Given the description of an element on the screen output the (x, y) to click on. 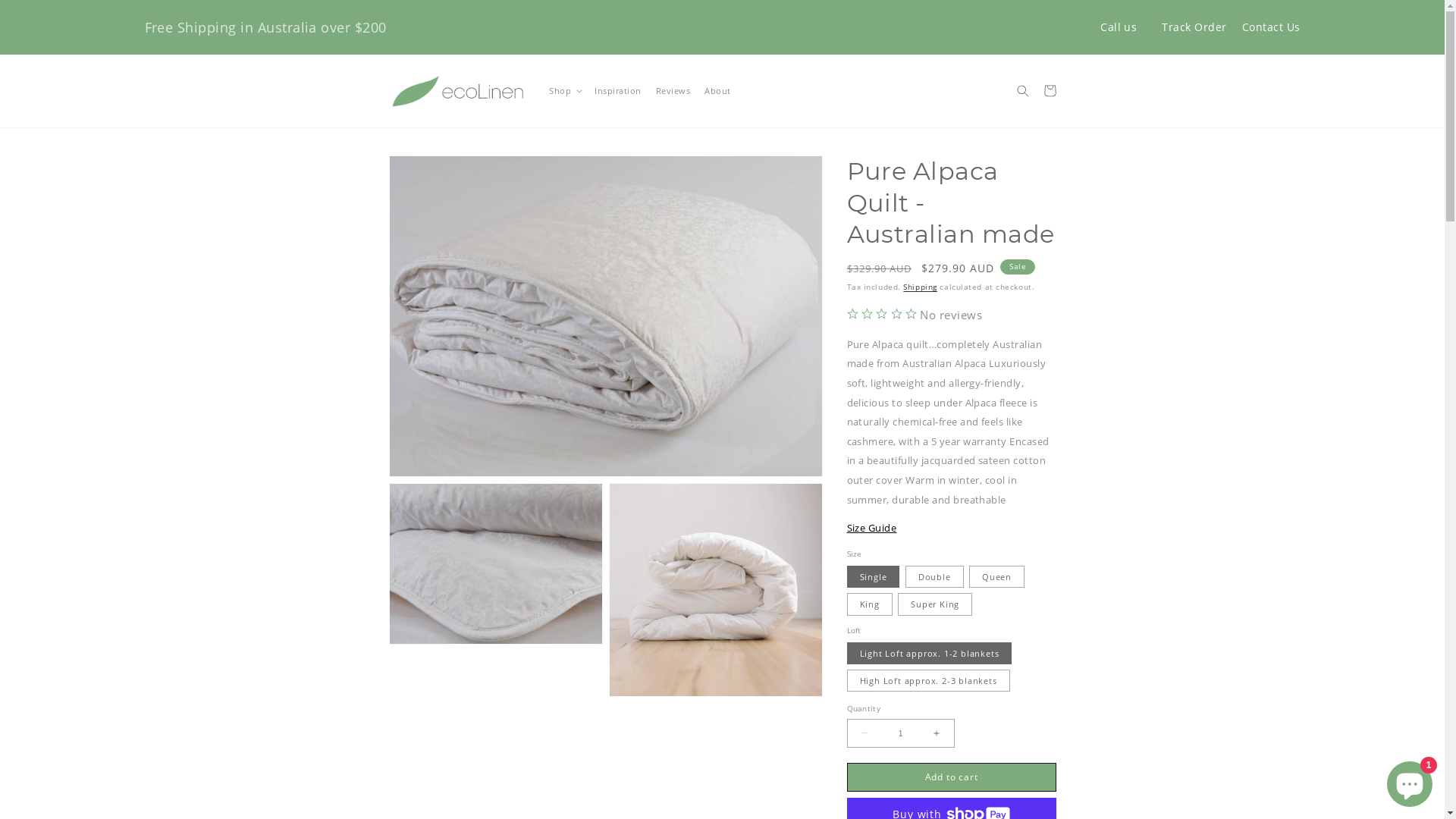
Shopify online store chat Element type: hover (1409, 780)
Increase quantity for Pure Alpaca Quilt - Australian made Element type: text (936, 732)
Size Guide Element type: text (871, 527)
Reviews Element type: text (672, 91)
Contact Us Element type: text (1271, 26)
Add to cart Element type: text (950, 776)
Decrease quantity for Pure Alpaca Quilt - Australian made Element type: text (864, 732)
Track Order Element type: text (1193, 26)
About Element type: text (717, 91)
Inspiration Element type: text (617, 91)
Cart Element type: text (1049, 90)
Shipping Element type: text (919, 286)
Skip to product information Element type: text (425, 168)
